Given the description of an element on the screen output the (x, y) to click on. 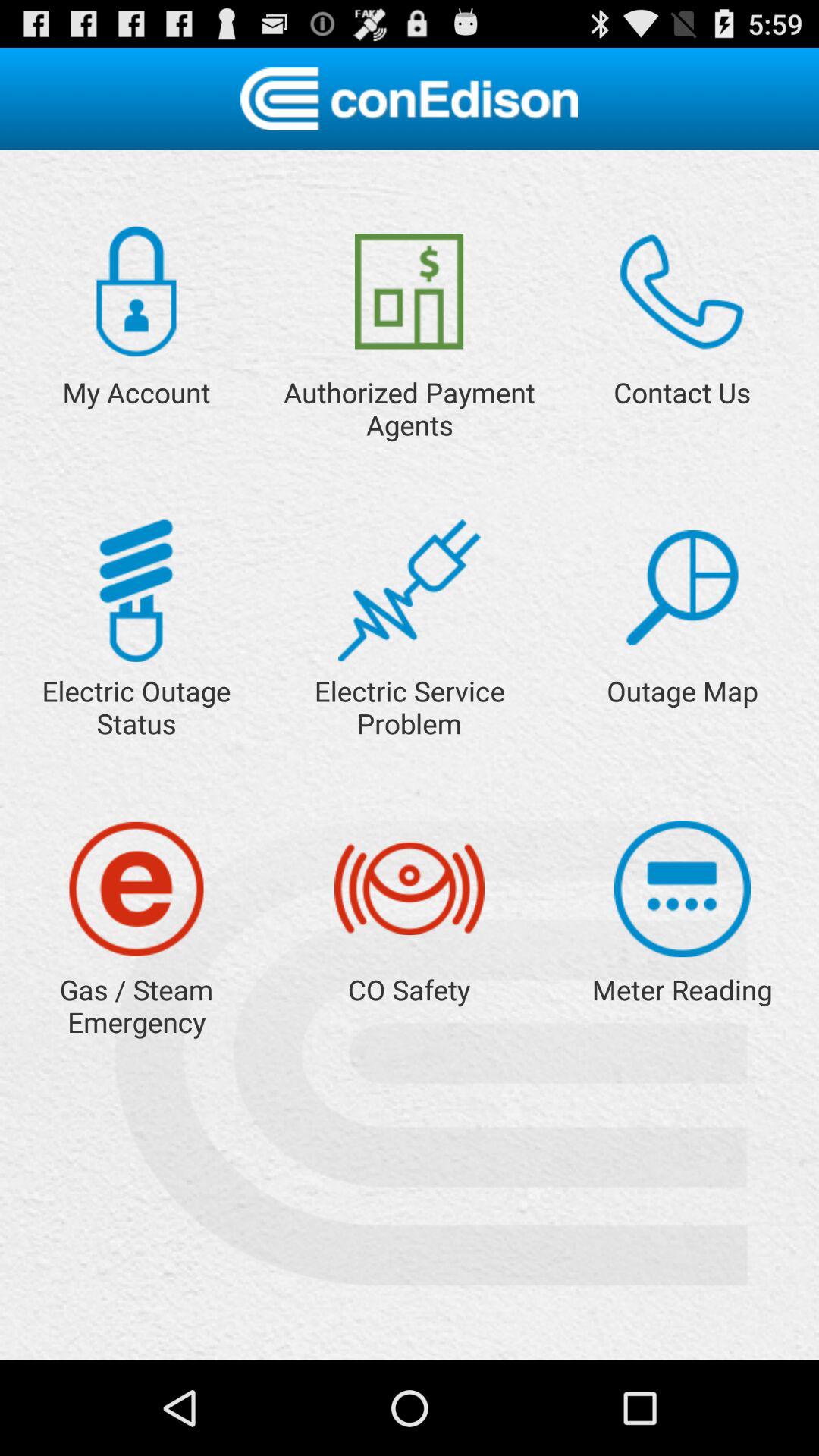
show electrical outages (135, 590)
